Given the description of an element on the screen output the (x, y) to click on. 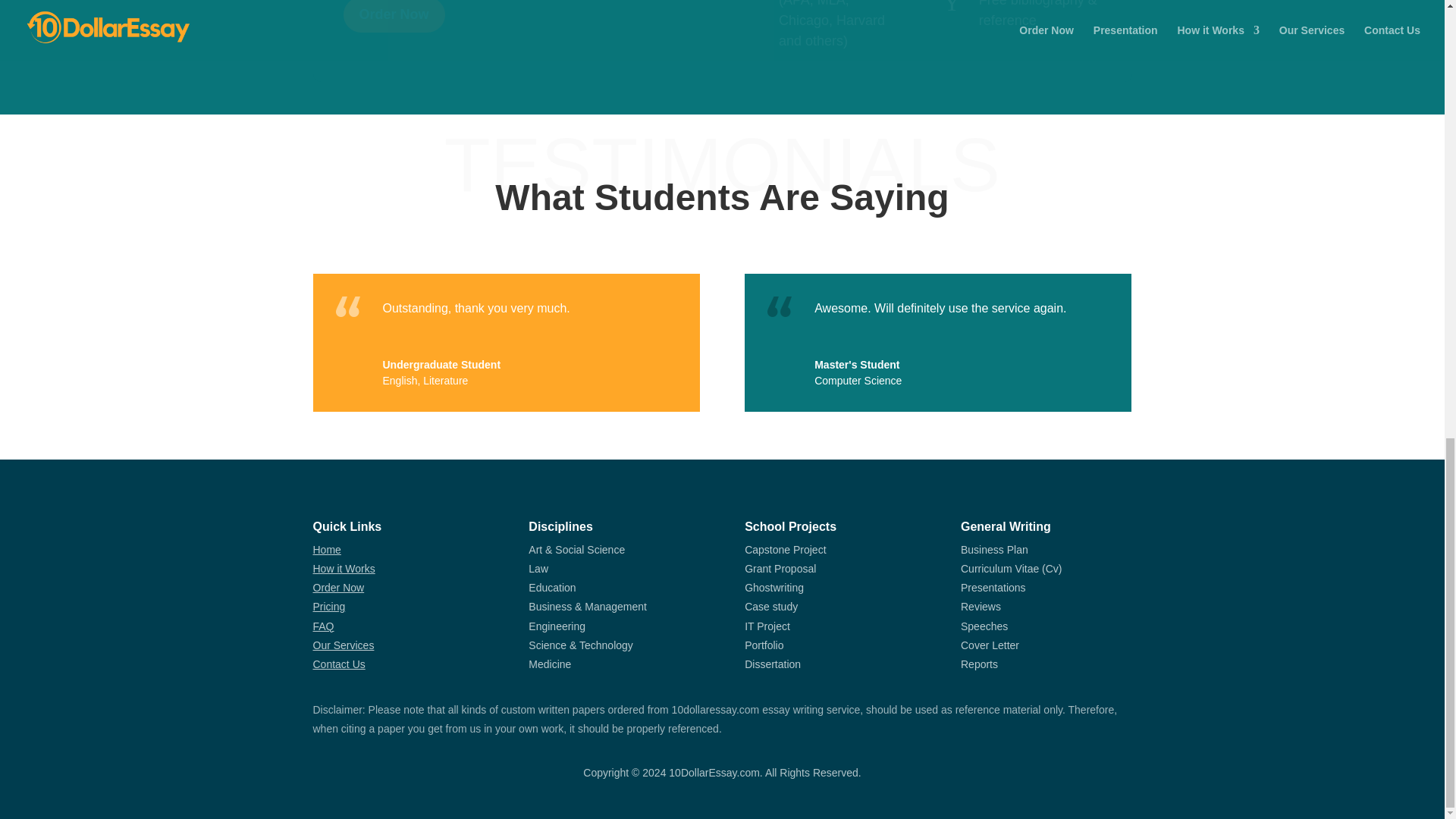
Pricing (329, 606)
Home (326, 549)
How it Works (343, 568)
Order Now (393, 16)
FAQ (323, 625)
Order Now (338, 587)
Contact Us (339, 664)
Our Services (343, 645)
